Given the description of an element on the screen output the (x, y) to click on. 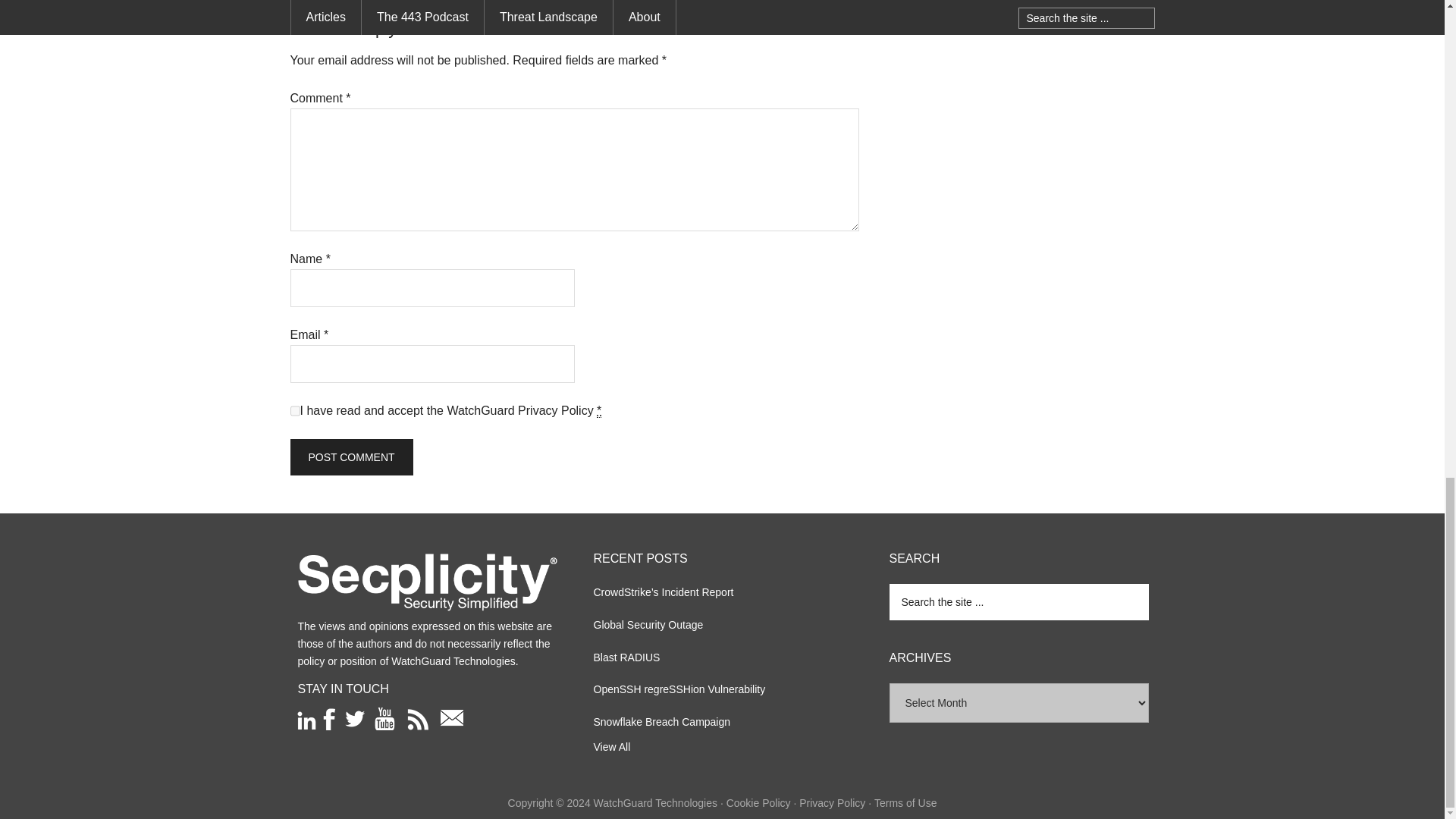
Privacy Policy (556, 410)
Post Comment (350, 456)
Post Comment (350, 456)
